Given the description of an element on the screen output the (x, y) to click on. 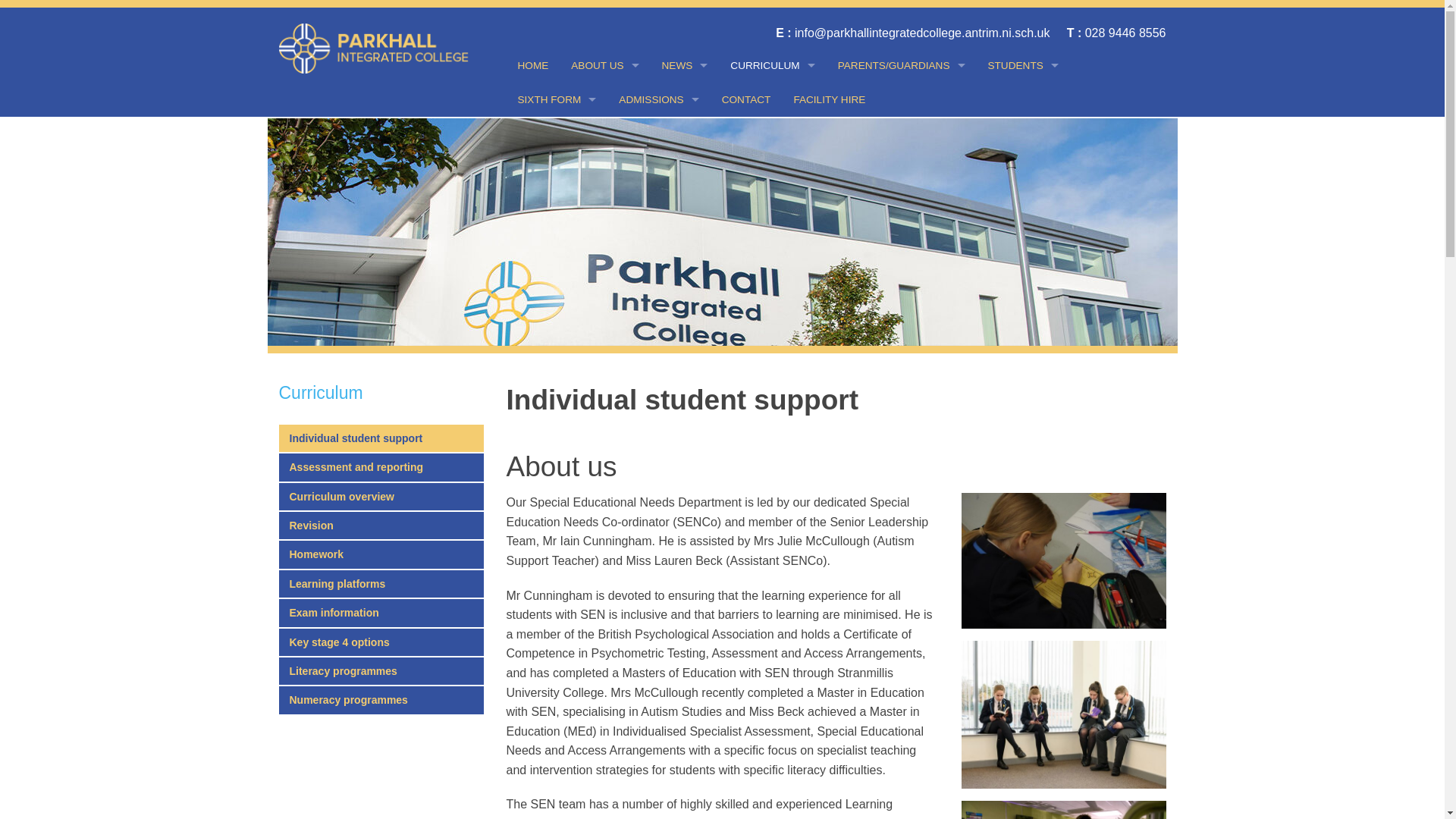
HOME (533, 65)
CALENDAR (684, 236)
POLICIES (604, 167)
ABOUT US (604, 65)
REVISION (772, 202)
LEARNING PLATFORMS (772, 270)
NUMERACY PROGRAMMES (772, 406)
INDIVIDUAL STUDENT SUPPORT (772, 99)
PASTORAL CARE (901, 99)
PARKHALL IN THE PAST (604, 236)
LETTERS (684, 133)
NEWS (684, 65)
PARKHALL MAGAZINE (684, 202)
BOARD OF GOVERNORS (604, 202)
PRINCIPAL'S WELCOME (604, 99)
